Given the description of an element on the screen output the (x, y) to click on. 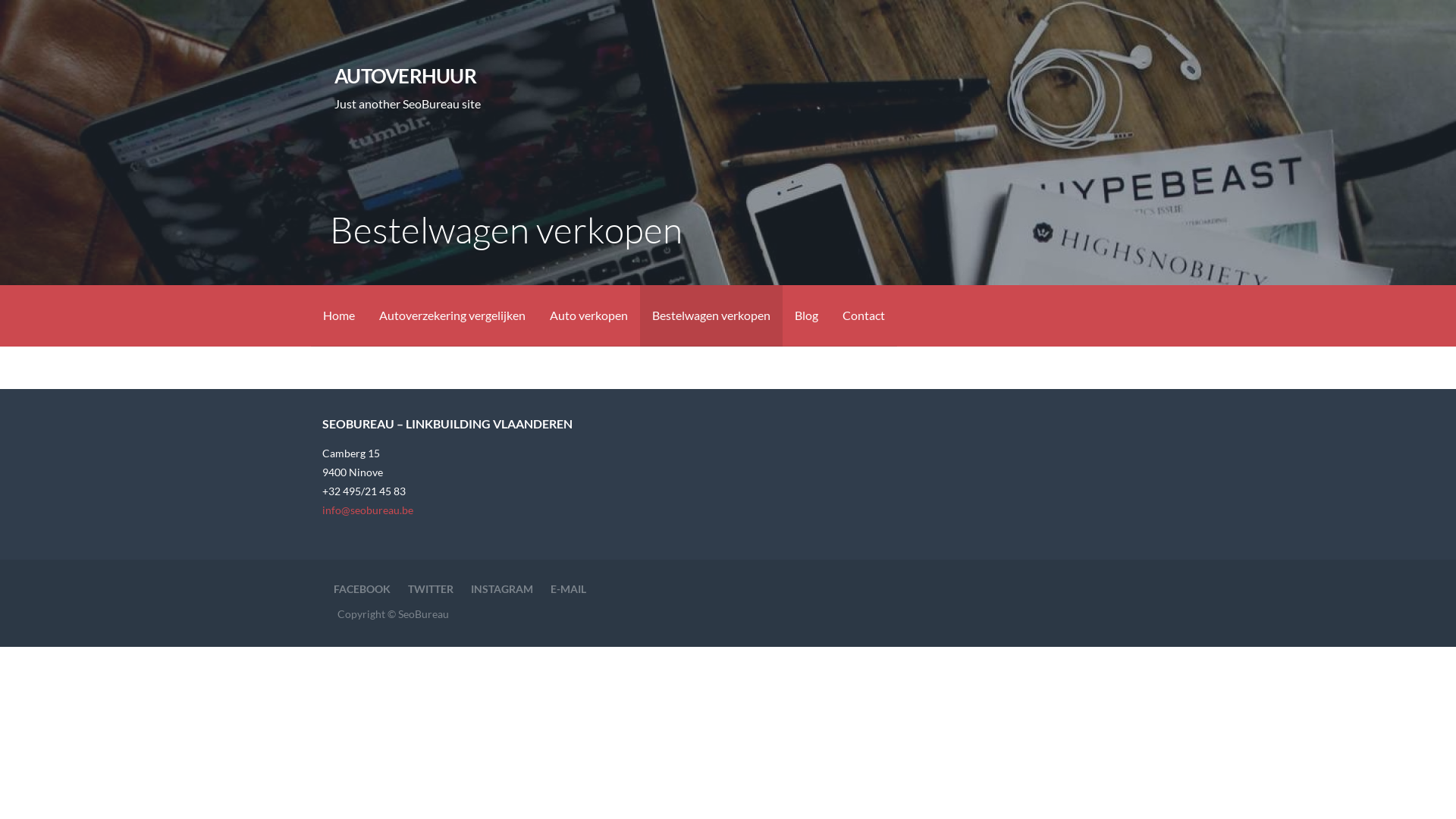
TWITTER Element type: text (430, 588)
Blog Element type: text (806, 315)
INSTAGRAM Element type: text (501, 588)
Bestelwagen verkopen Element type: text (711, 315)
Contact Element type: text (863, 315)
E-MAIL Element type: text (568, 588)
Auto verkopen Element type: text (588, 315)
Home Element type: text (338, 315)
AUTOVERHUUR Element type: text (405, 75)
info@seobureau.be Element type: text (367, 509)
Autoverzekering vergelijken Element type: text (452, 315)
FACEBOOK Element type: text (361, 588)
